Given the description of an element on the screen output the (x, y) to click on. 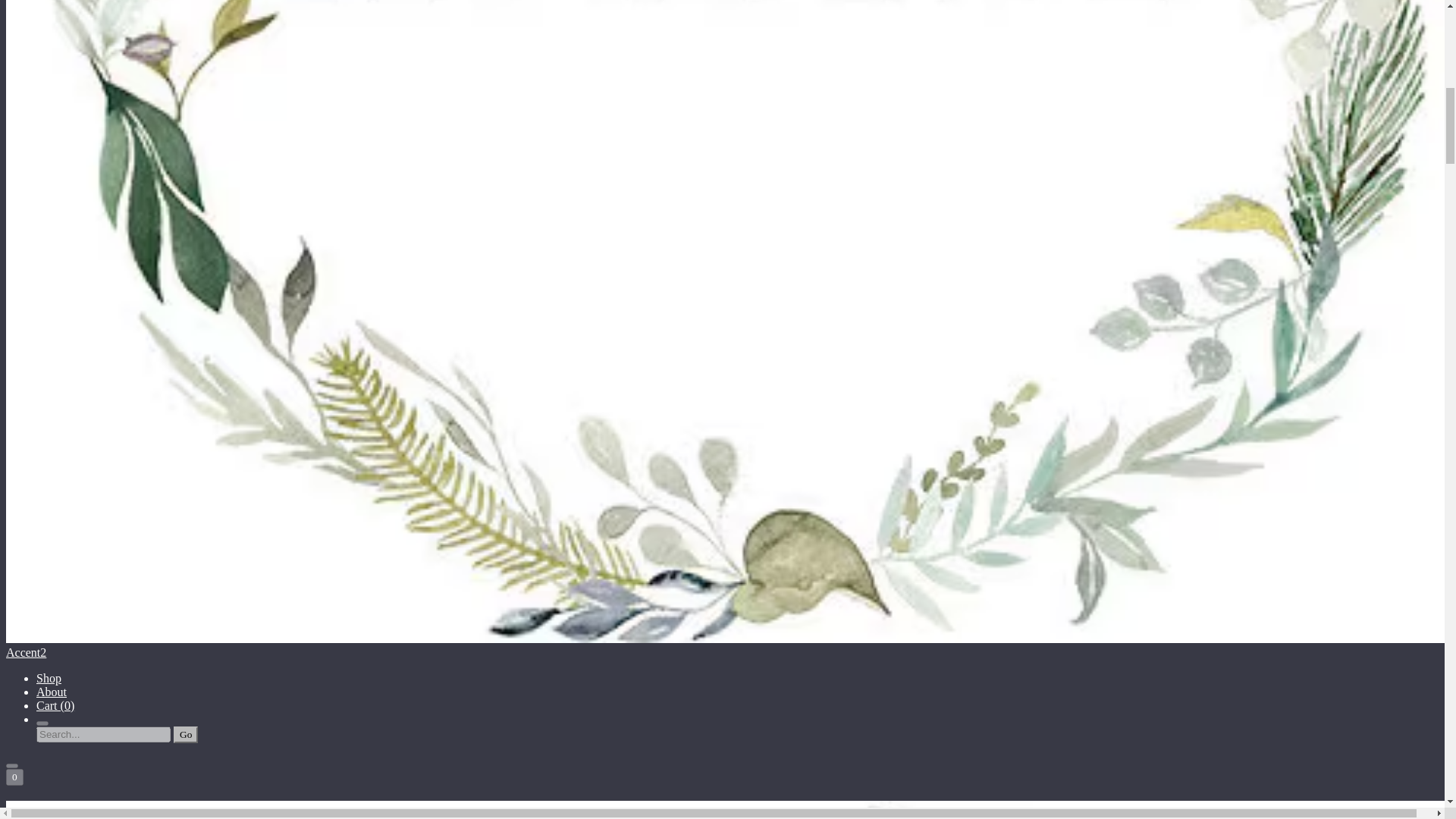
0 (14, 777)
Accent2 (721, 809)
Go (185, 734)
Go (185, 734)
Shop (48, 677)
About (51, 691)
